Given the description of an element on the screen output the (x, y) to click on. 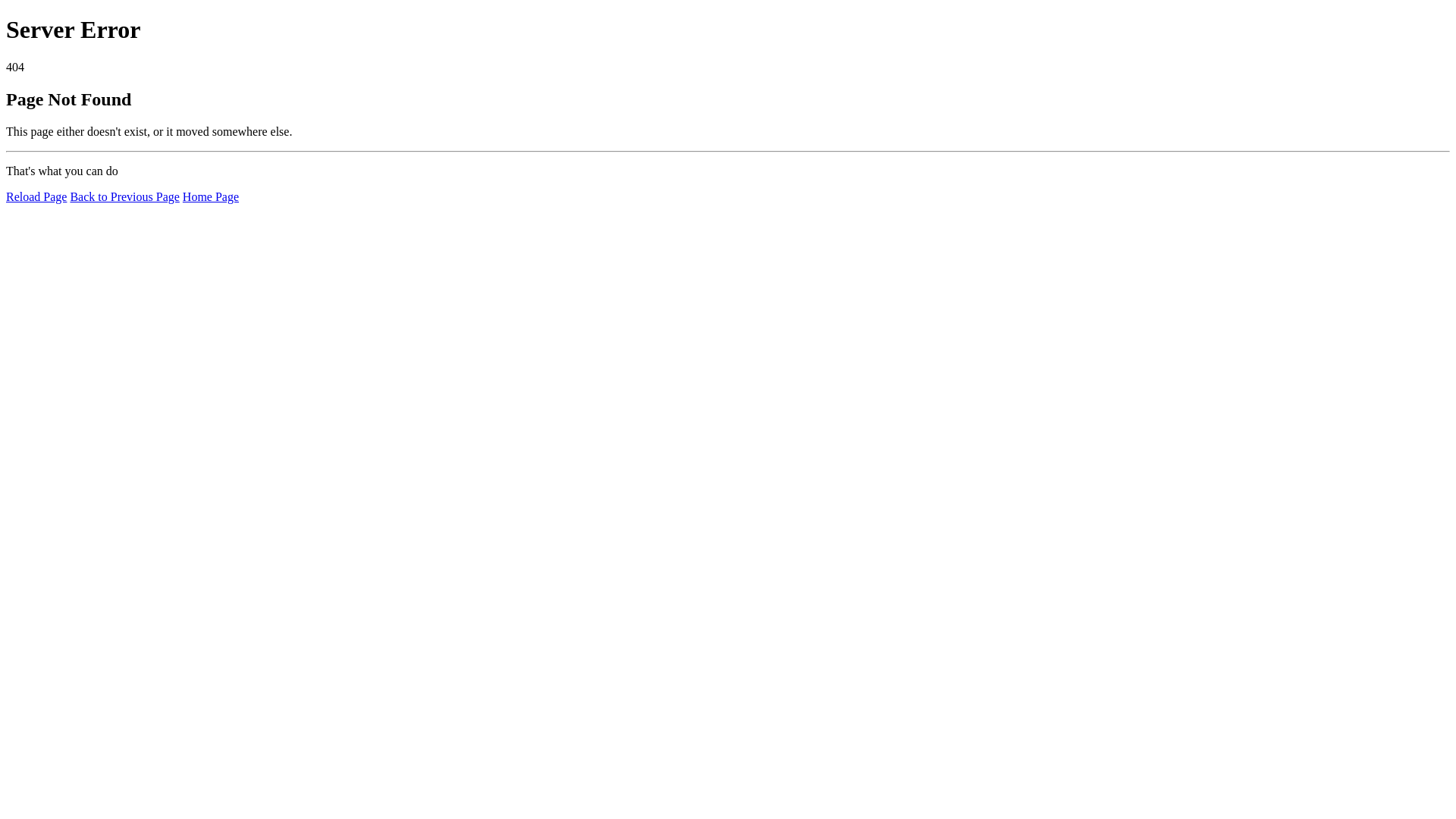
Back to Previous Page Element type: text (123, 196)
Home Page Element type: text (210, 196)
Reload Page Element type: text (36, 196)
